Given the description of an element on the screen output the (x, y) to click on. 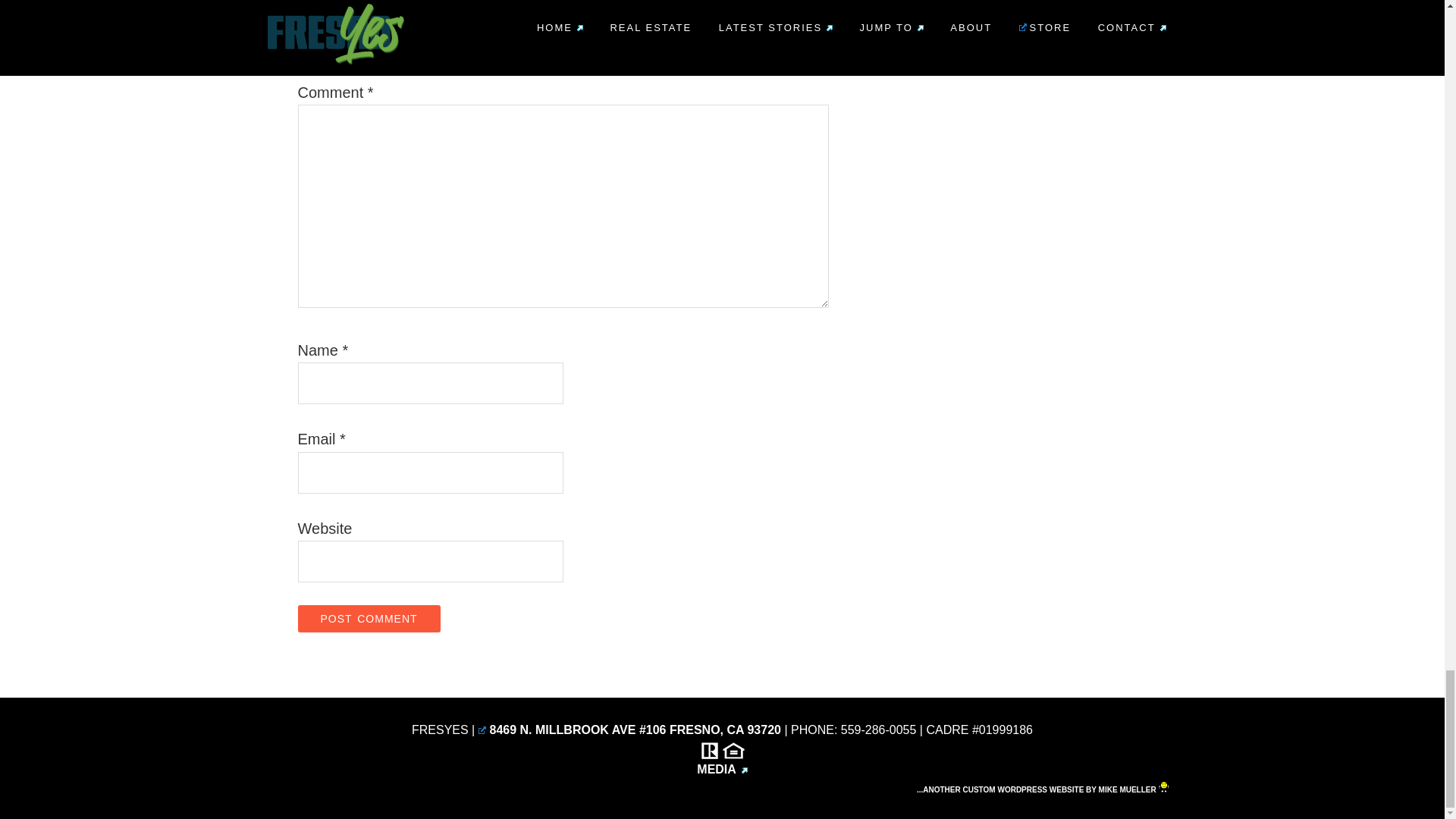
Post Comment (368, 618)
